Given the description of an element on the screen output the (x, y) to click on. 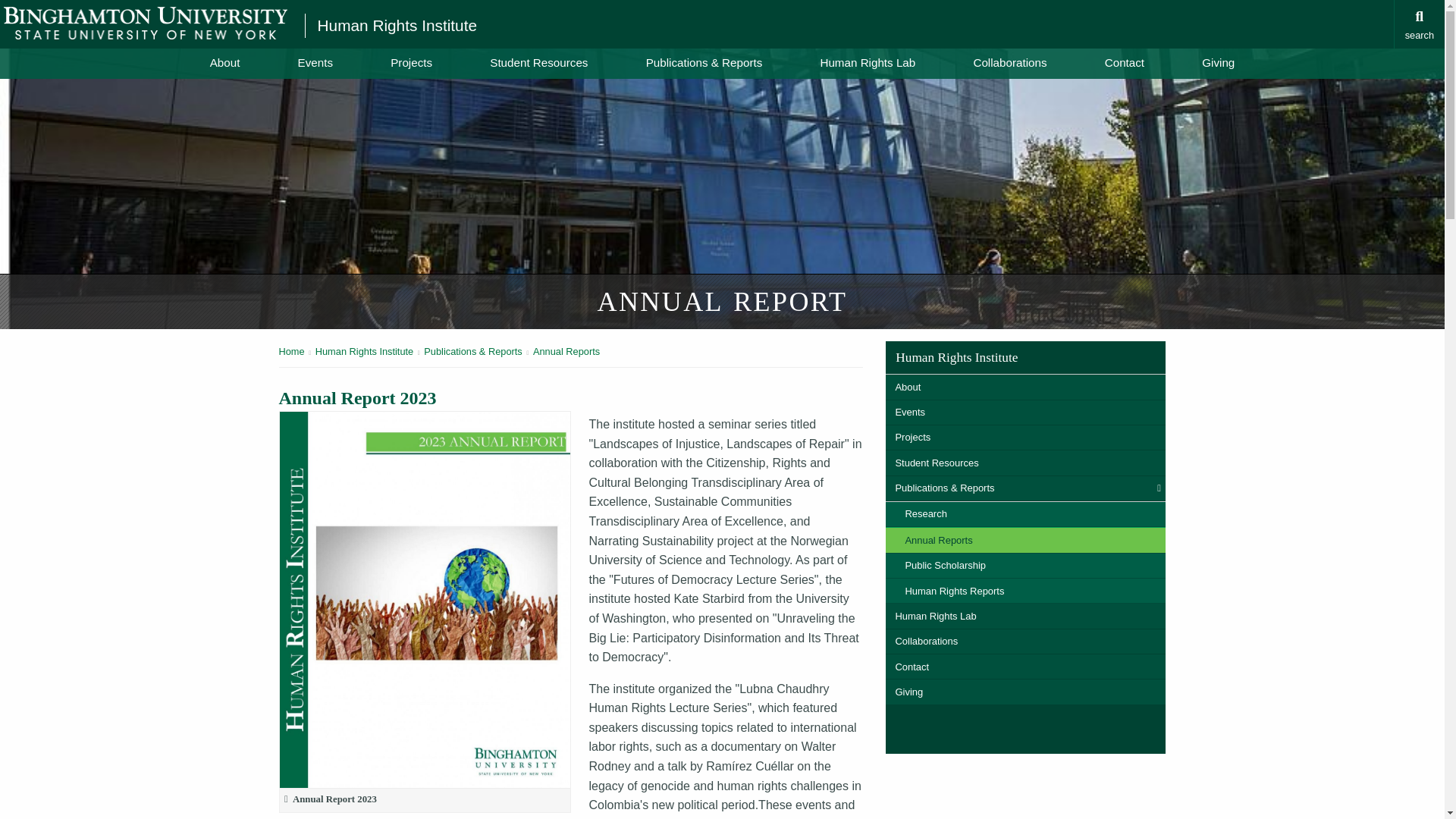
Projects (1025, 437)
Binghamton University: The State University of New York (145, 22)
Human Rights Lab (866, 62)
Human Rights Reports (1025, 590)
Research (1025, 514)
Student Resources (1025, 462)
Student Resources (538, 62)
Human Rights Institute (364, 351)
Giving (1218, 62)
About (1025, 386)
